Given the description of an element on the screen output the (x, y) to click on. 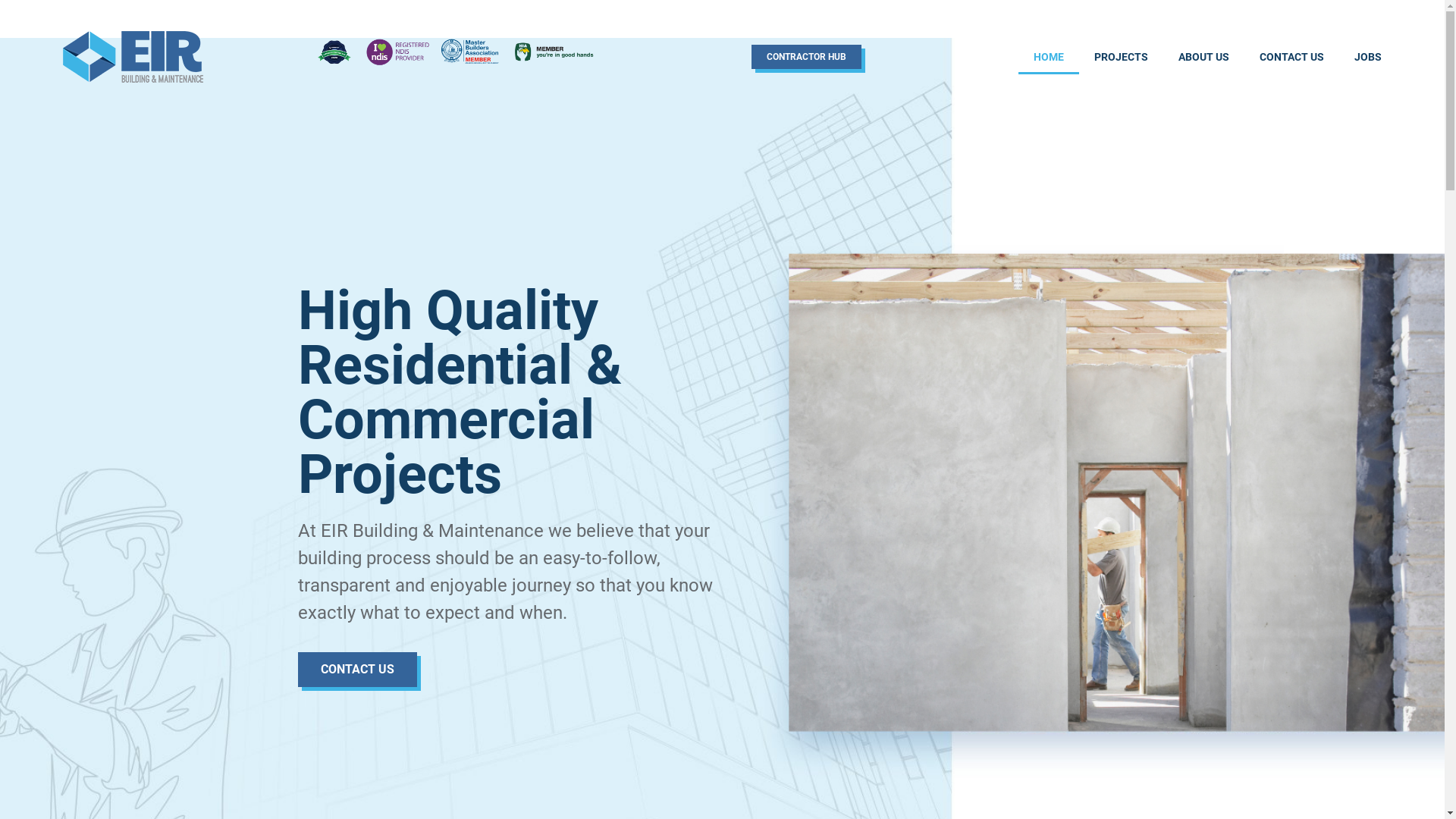
CONTACT US Element type: text (356, 669)
PROJECTS Element type: text (1121, 56)
HOME Element type: text (1048, 56)
CONTRACTOR HUB Element type: text (806, 56)
JOBS Element type: text (1367, 56)
CONTACT US Element type: text (1291, 56)
ABOUT US Element type: text (1203, 56)
